Given the description of an element on the screen output the (x, y) to click on. 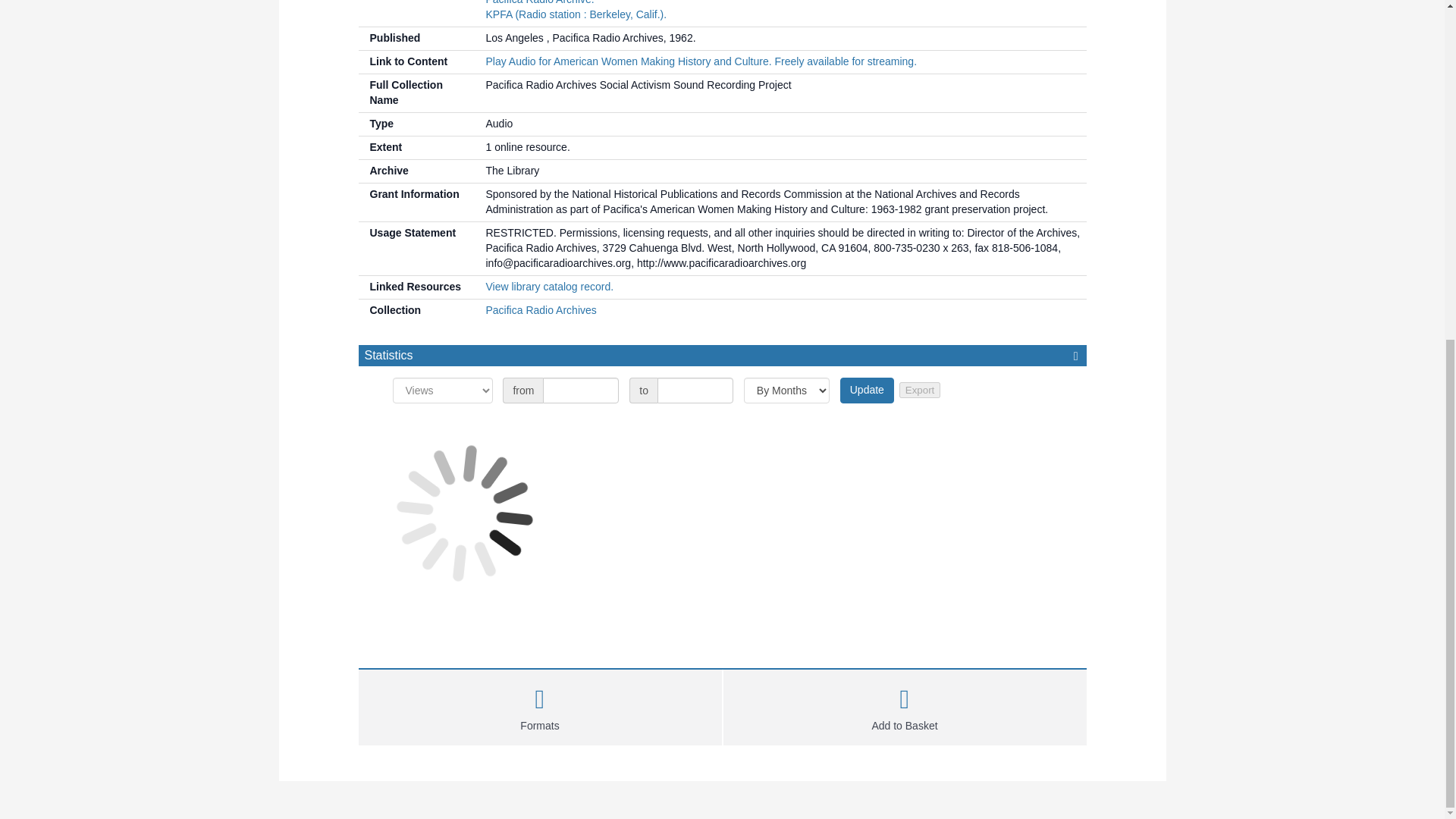
Update (866, 390)
Add to Basket (904, 705)
View library catalog record. (548, 286)
Pacifica Radio Archive. (539, 2)
Pacifica Radio Archives (539, 309)
